Given the description of an element on the screen output the (x, y) to click on. 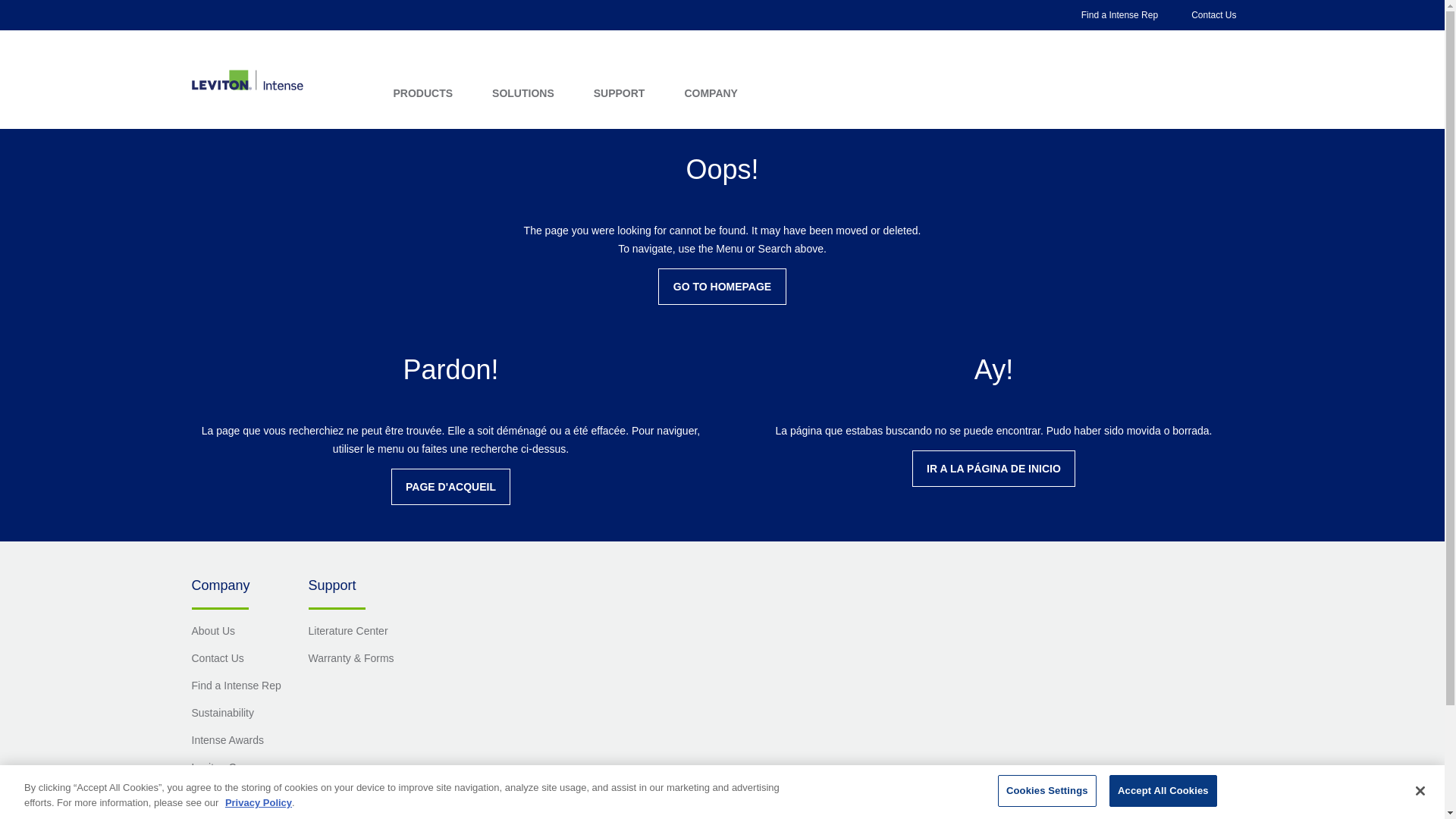
Contact Us (1213, 14)
PRODUCTS (422, 93)
Find a Intense Rep (1119, 14)
SUPPORT (619, 93)
SOLUTIONS (523, 93)
